Given the description of an element on the screen output the (x, y) to click on. 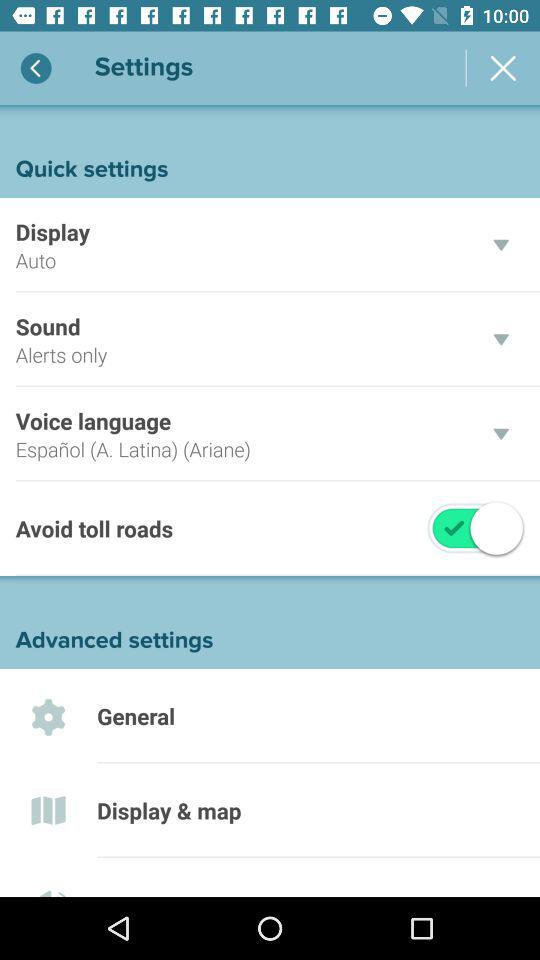
close settings (503, 67)
